Given the description of an element on the screen output the (x, y) to click on. 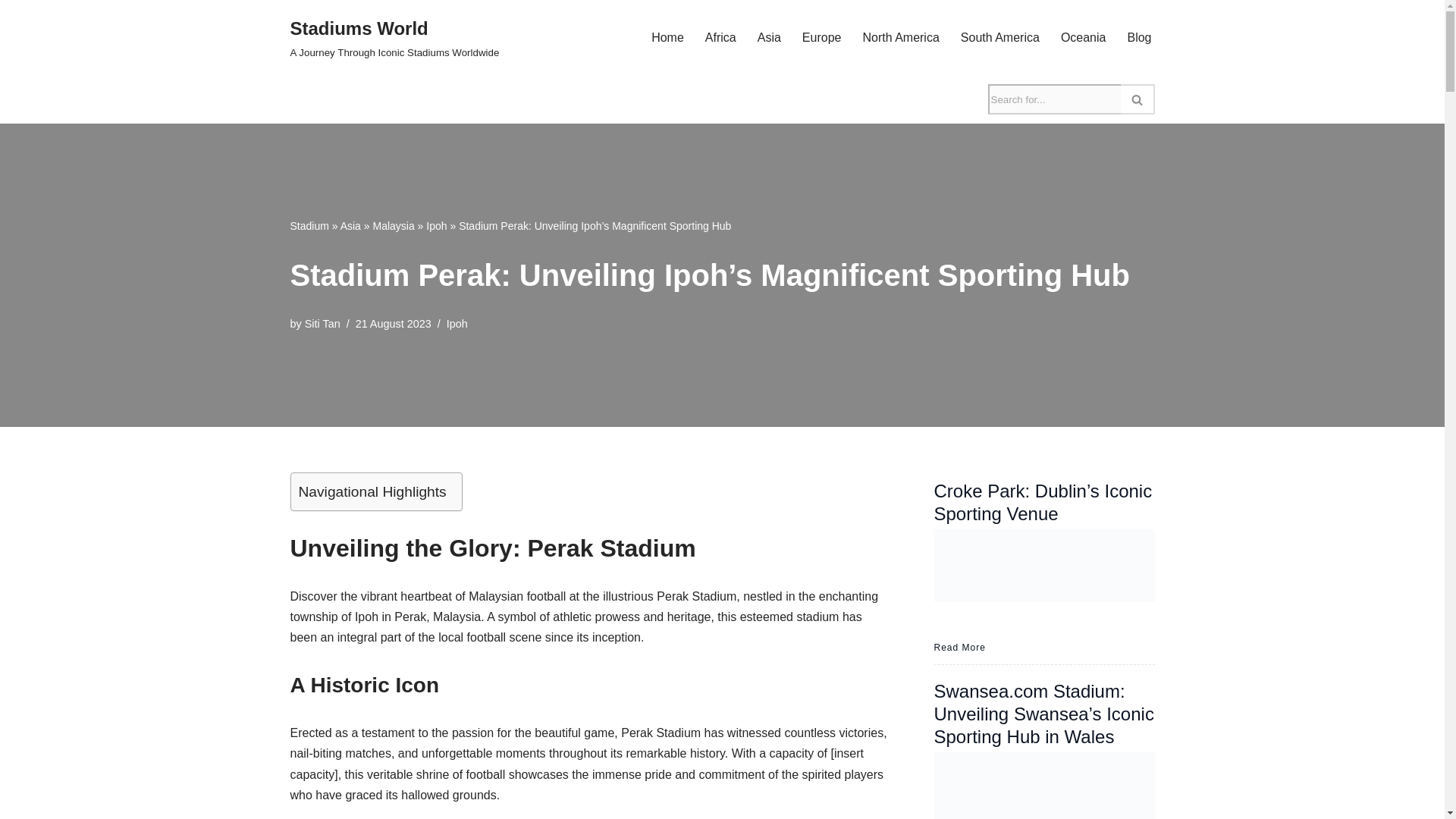
South America (999, 37)
Asia (768, 37)
Stadium (309, 225)
Blog (1138, 37)
Siti Tan (322, 323)
Ipoh (456, 323)
Ipoh (436, 225)
Europe (821, 37)
Malaysia (392, 225)
Africa (394, 37)
Navigation Menu (720, 37)
Posts by Siti Tan (667, 37)
North America (322, 323)
